Given the description of an element on the screen output the (x, y) to click on. 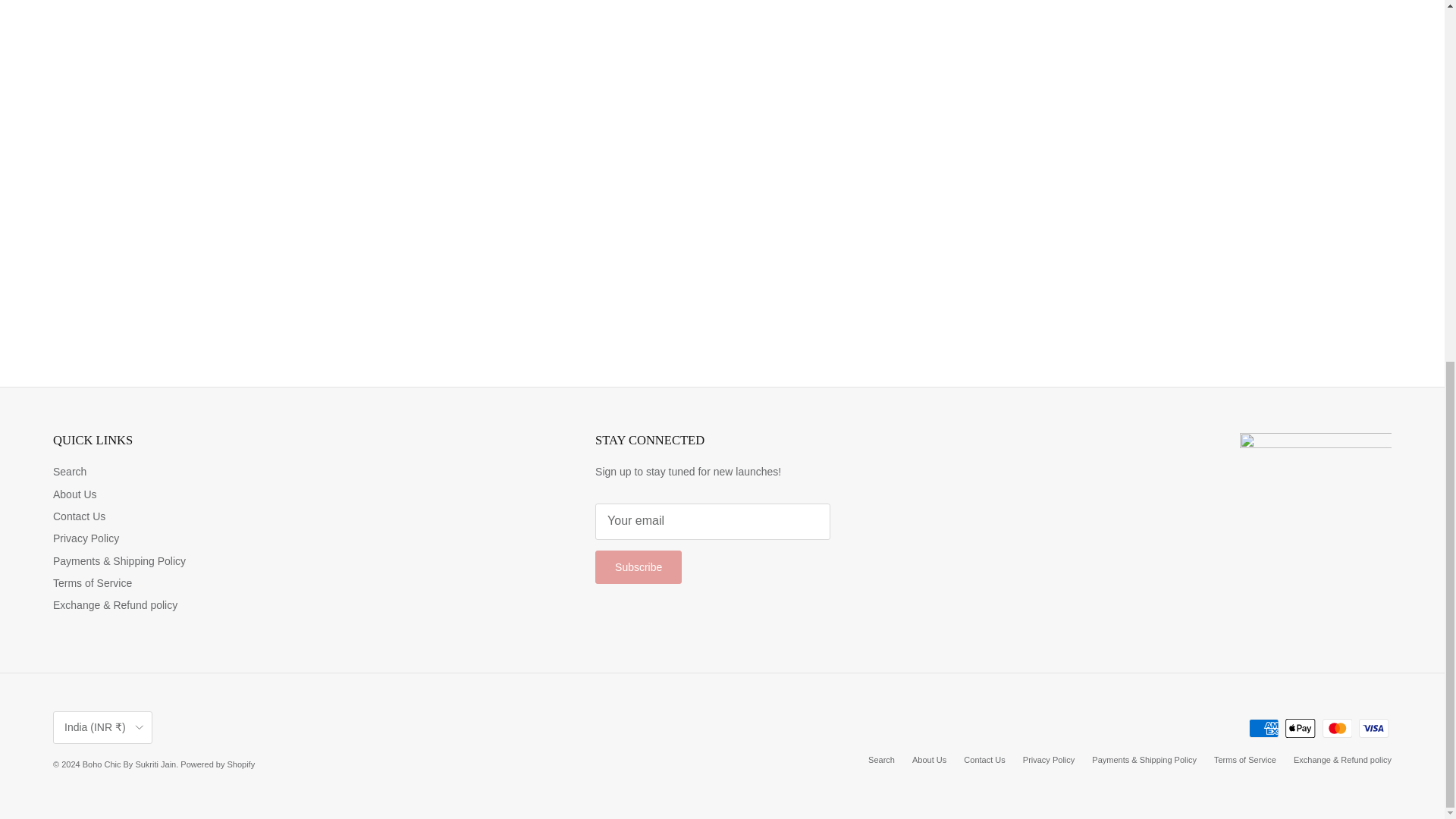
Apple Pay (1299, 728)
Visa (1373, 728)
American Express (1262, 728)
Mastercard (1337, 728)
